Given the description of an element on the screen output the (x, y) to click on. 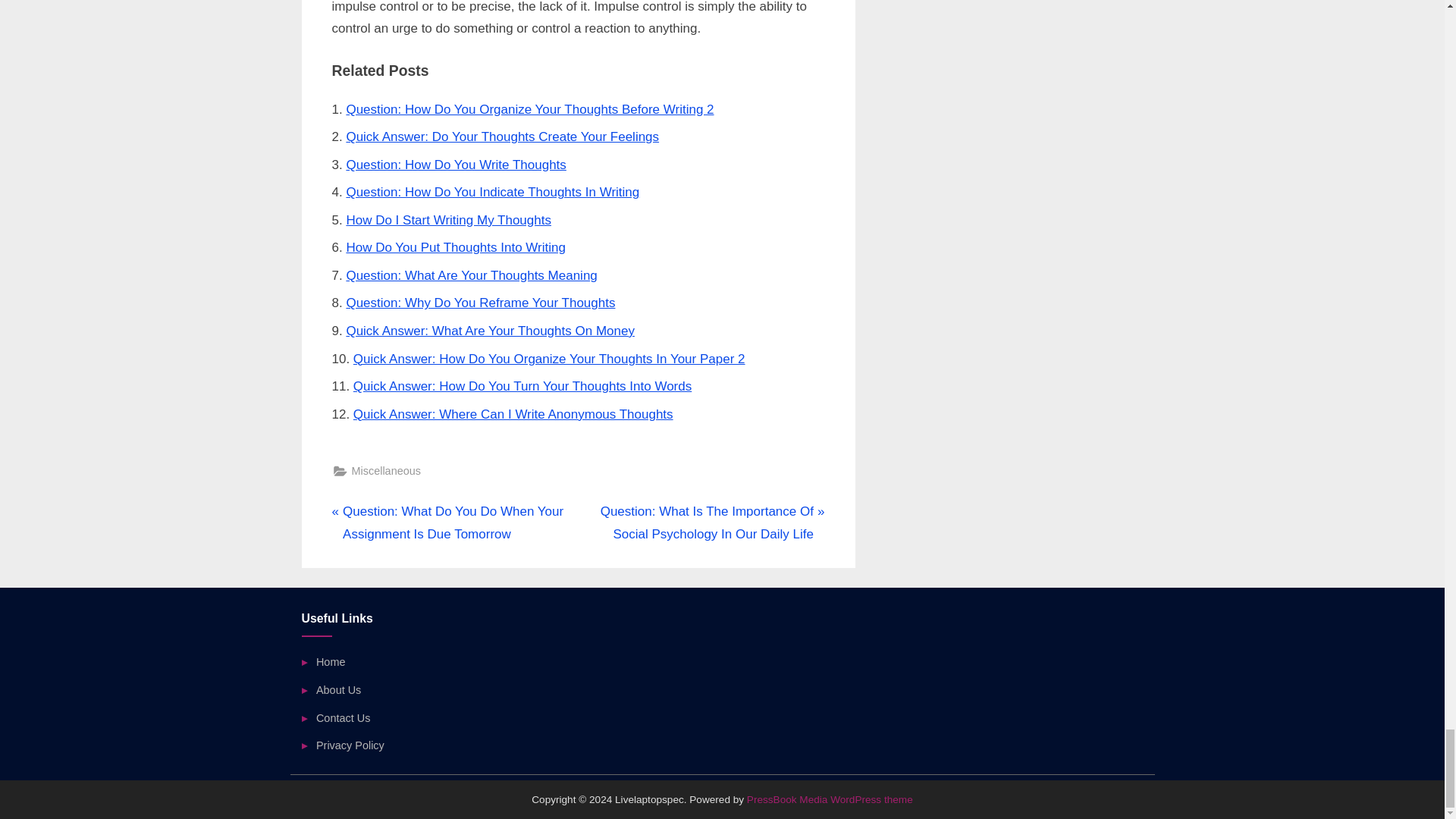
Question: How Do You Organize Your Thoughts Before Writing 2 (529, 109)
Question: How Do You Write Thoughts (456, 164)
Question: How Do You Organize Your Thoughts Before Writing 2 (529, 109)
Question: Why Do You Reframe Your Thoughts (480, 302)
How Do You Put Thoughts Into Writing (456, 247)
Quick Answer: What Are Your Thoughts On Money (490, 330)
Question: How Do You Write Thoughts (456, 164)
Quick Answer: How Do You Turn Your Thoughts Into Words (522, 386)
